Given the description of an element on the screen output the (x, y) to click on. 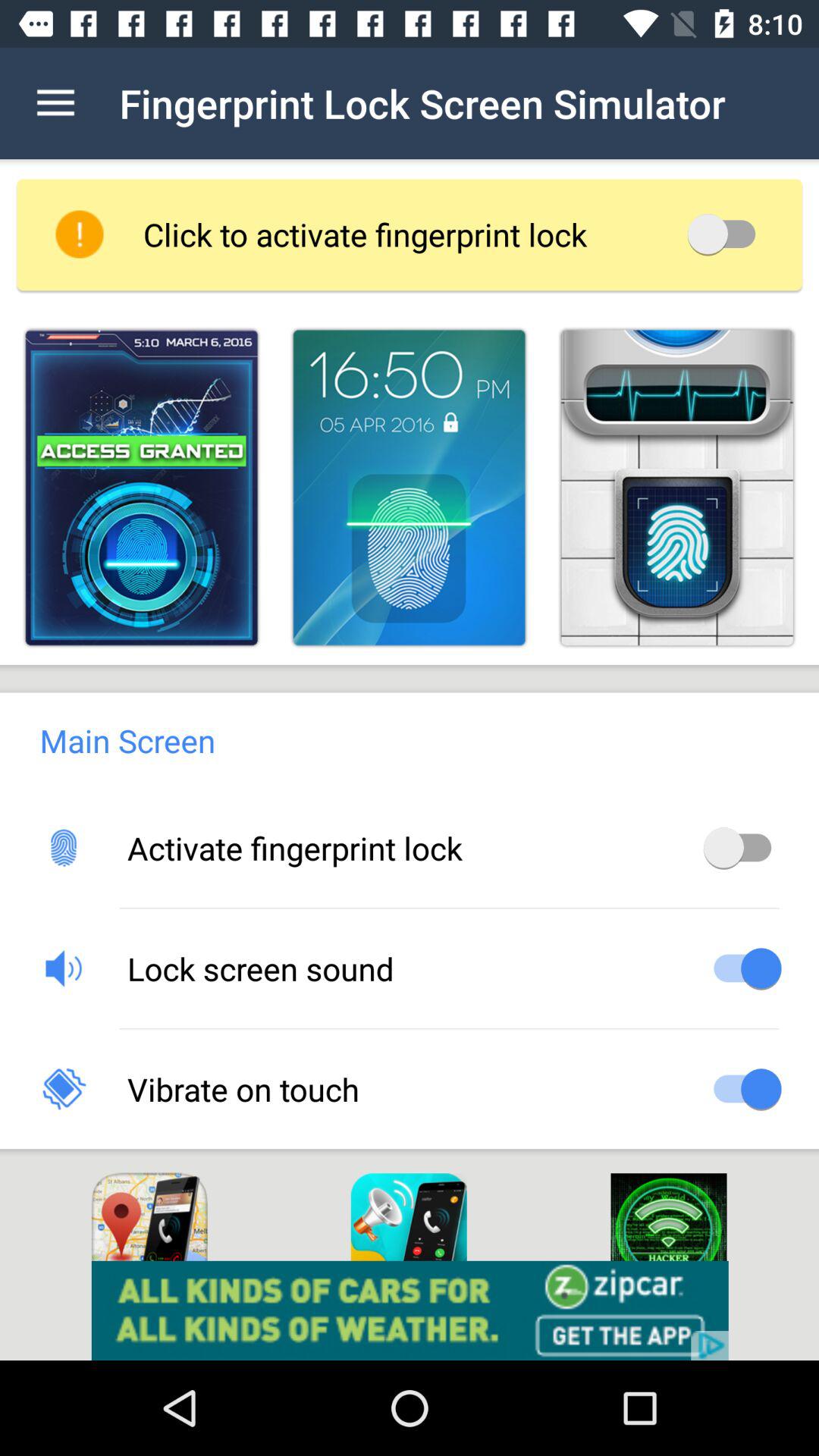
toggle lock screen sound (742, 968)
